Given the description of an element on the screen output the (x, y) to click on. 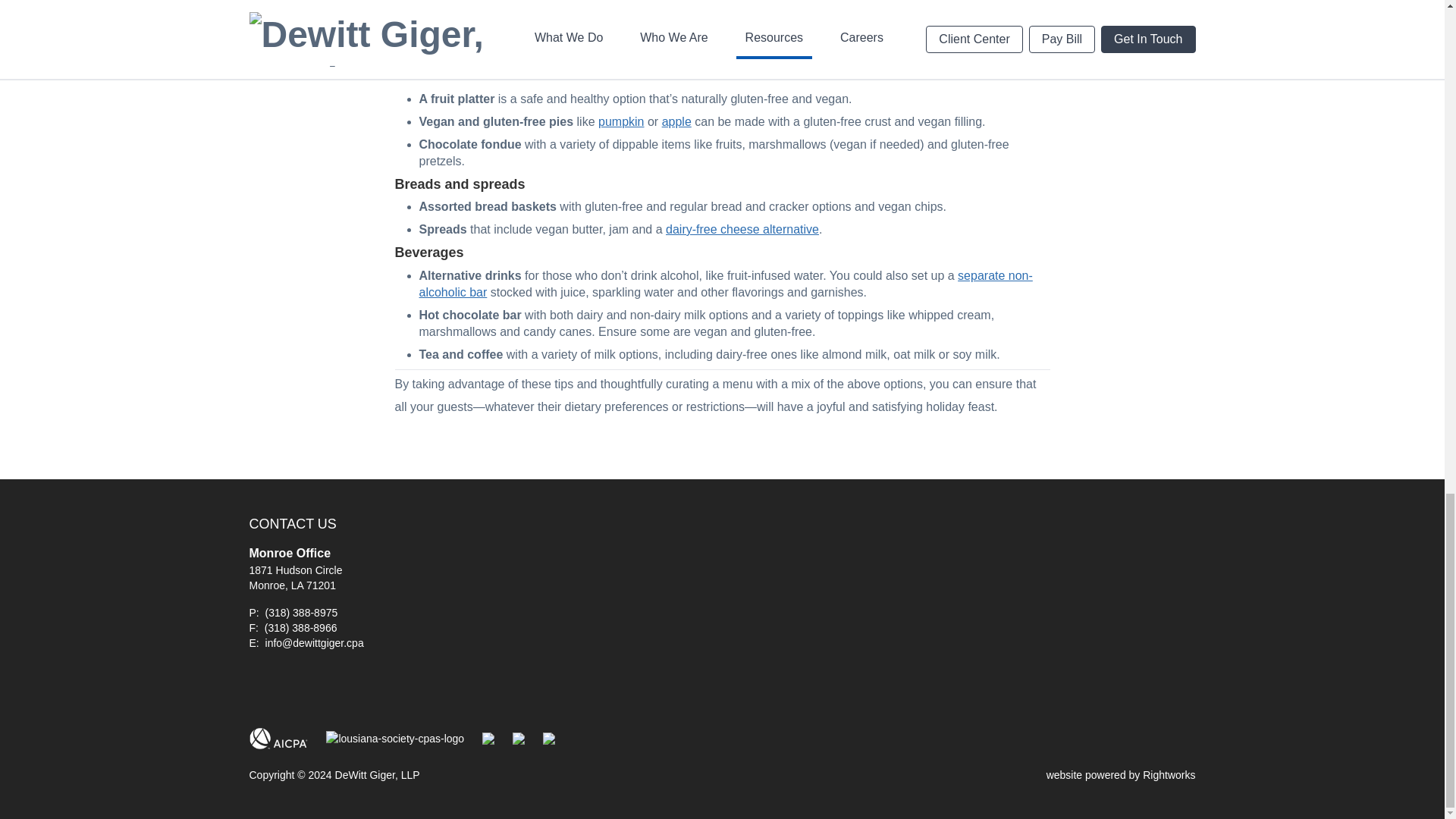
Learn more about Society of Louisiana CPAs (395, 738)
Learn more about American Institute of CPAs (277, 738)
Learn more about Ruston-Lincoln Chamber of Commerce (548, 738)
Learn more about Monroe Chamber of Commerce (488, 738)
